Given the description of an element on the screen output the (x, y) to click on. 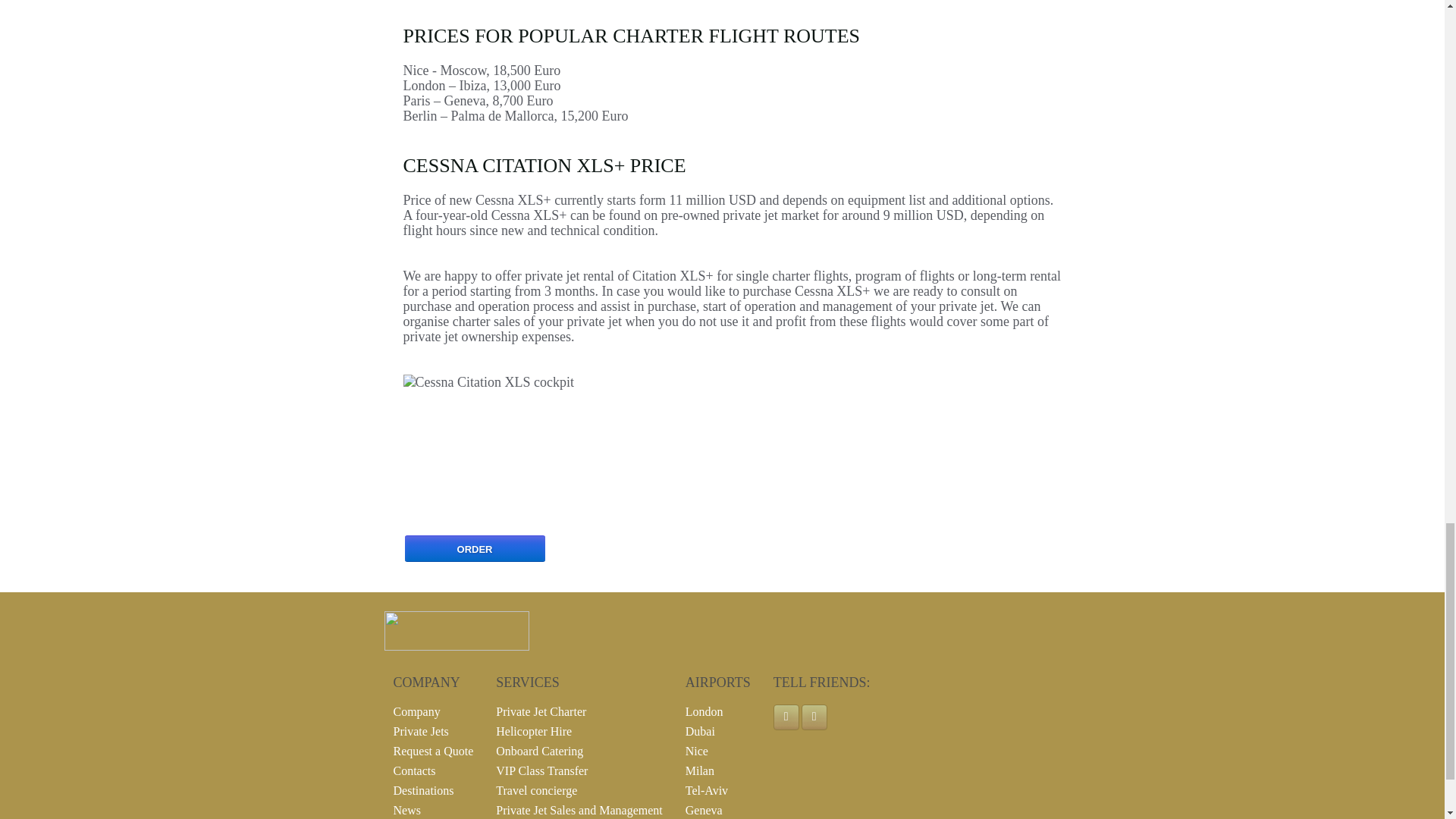
Geneva (703, 809)
Onboard Catering (539, 750)
Request a Quote (433, 750)
Dubai (699, 730)
Private Jet Charter (541, 711)
Company (416, 711)
Nice (696, 750)
Destinations (422, 789)
Private Jets (420, 730)
London (704, 711)
